Given the description of an element on the screen output the (x, y) to click on. 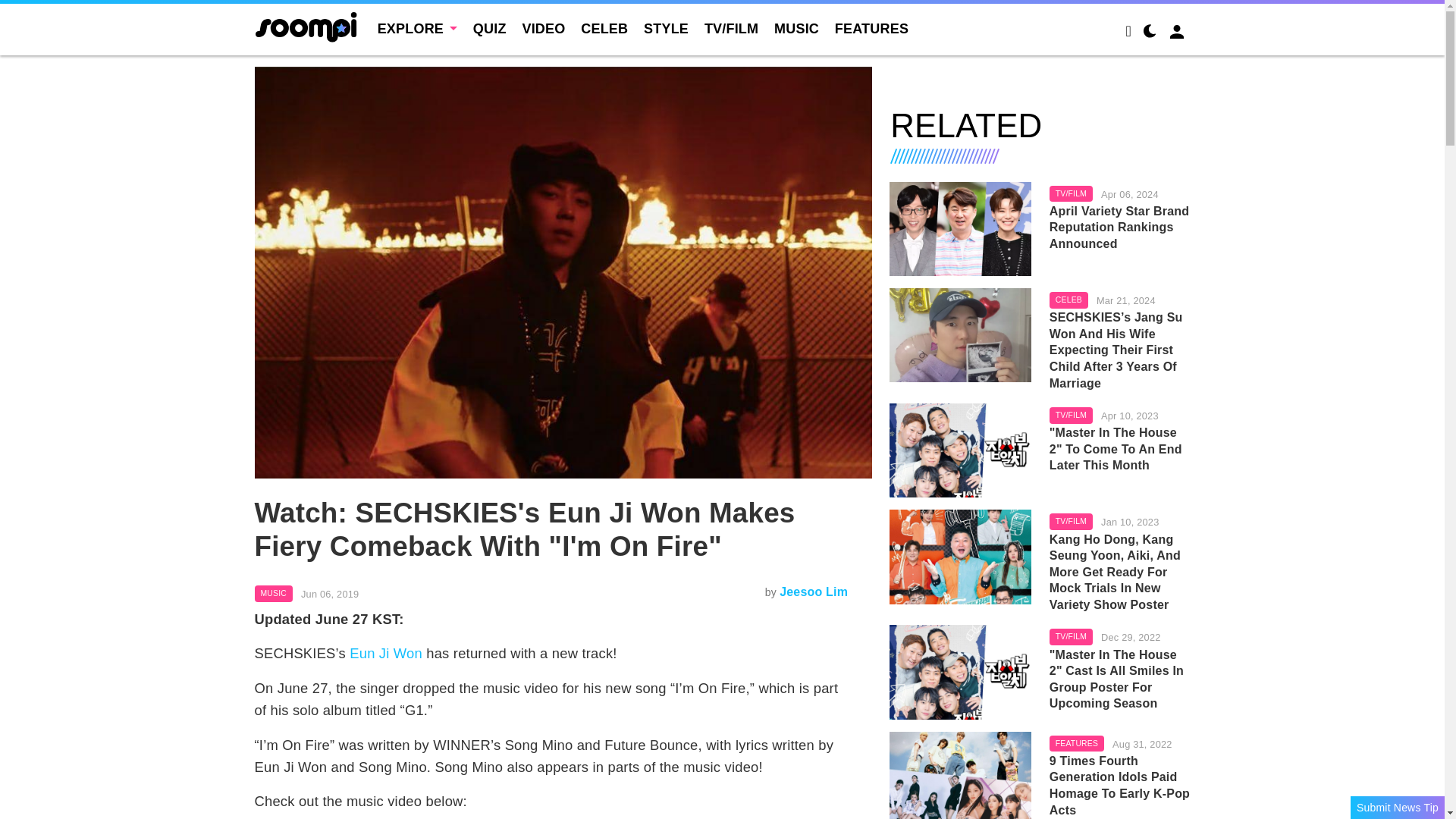
VIDEO (542, 28)
MUSIC (273, 593)
EXPLORE (417, 28)
FEATURES (871, 28)
MUSIC (796, 28)
QUIZ (489, 28)
Articles by Jeesoo Lim (812, 591)
Eun Ji Won (385, 652)
Night Mode Toggle (1149, 33)
Jeesoo Lim (812, 591)
CELEB (603, 28)
Celeb (1068, 299)
April Variety Star Brand Reputation Rankings Announced (959, 228)
Music (273, 593)
April Variety Star Brand Reputation Rankings Announced (1120, 227)
